Given the description of an element on the screen output the (x, y) to click on. 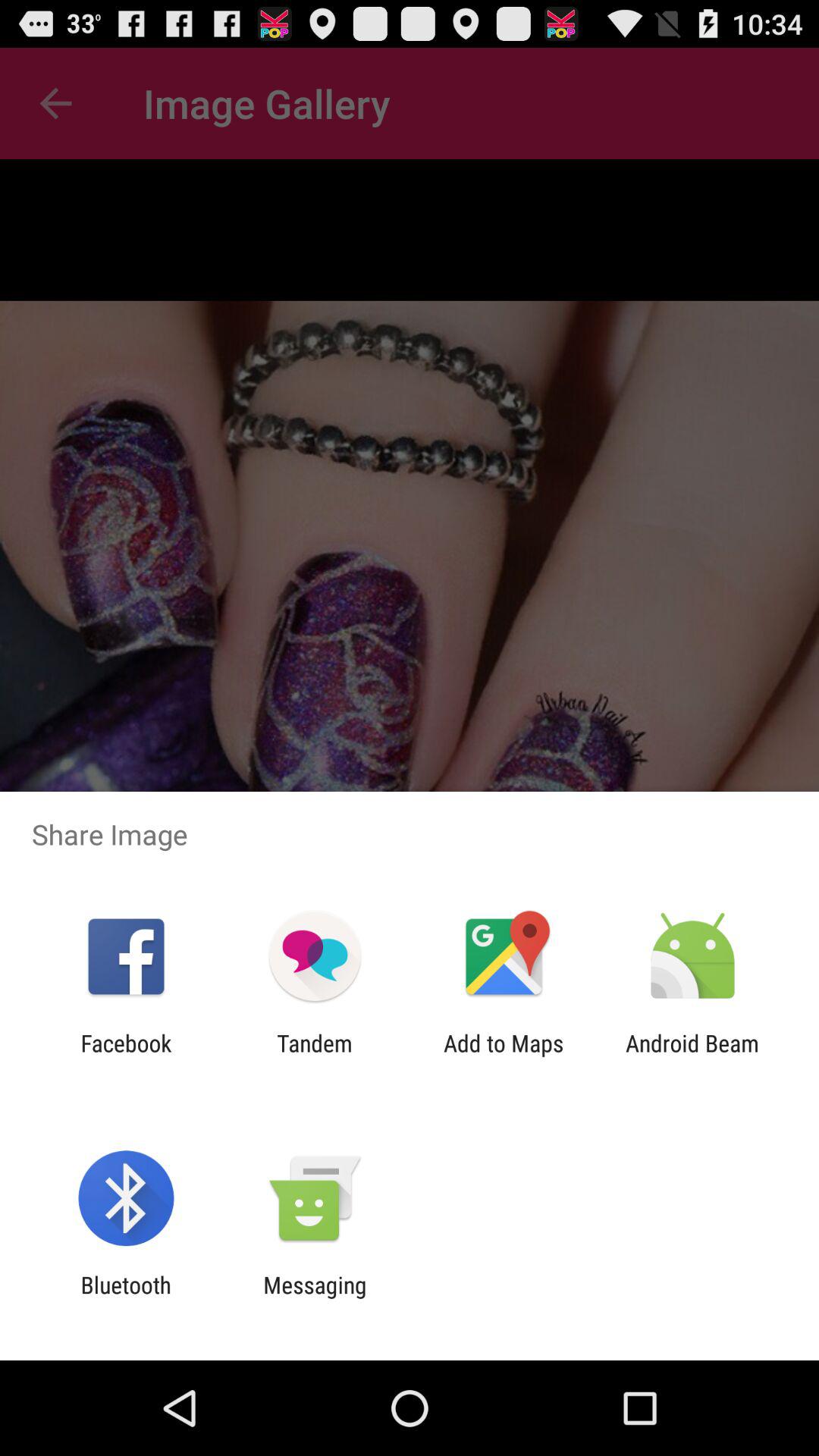
press tandem icon (314, 1056)
